Given the description of an element on the screen output the (x, y) to click on. 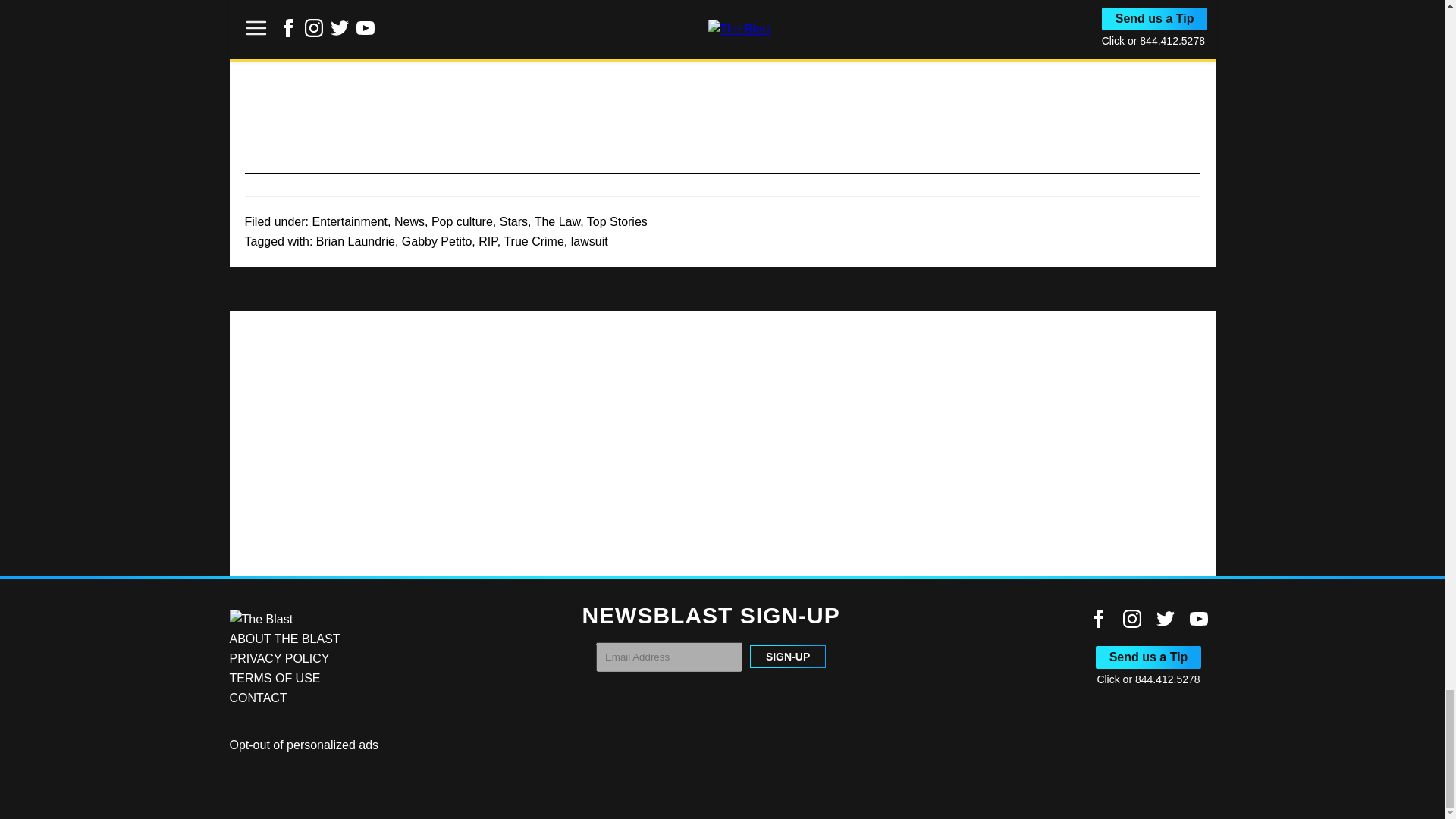
True Crime (533, 241)
Gabby Petito (436, 241)
RIP (488, 241)
Entertainment (349, 221)
Top Stories (616, 221)
SIGN-UP (787, 656)
Link to Twitter (1164, 618)
Brian Laundrie (354, 241)
Pop culture (461, 221)
Link to Instagram (1131, 618)
